Given the description of an element on the screen output the (x, y) to click on. 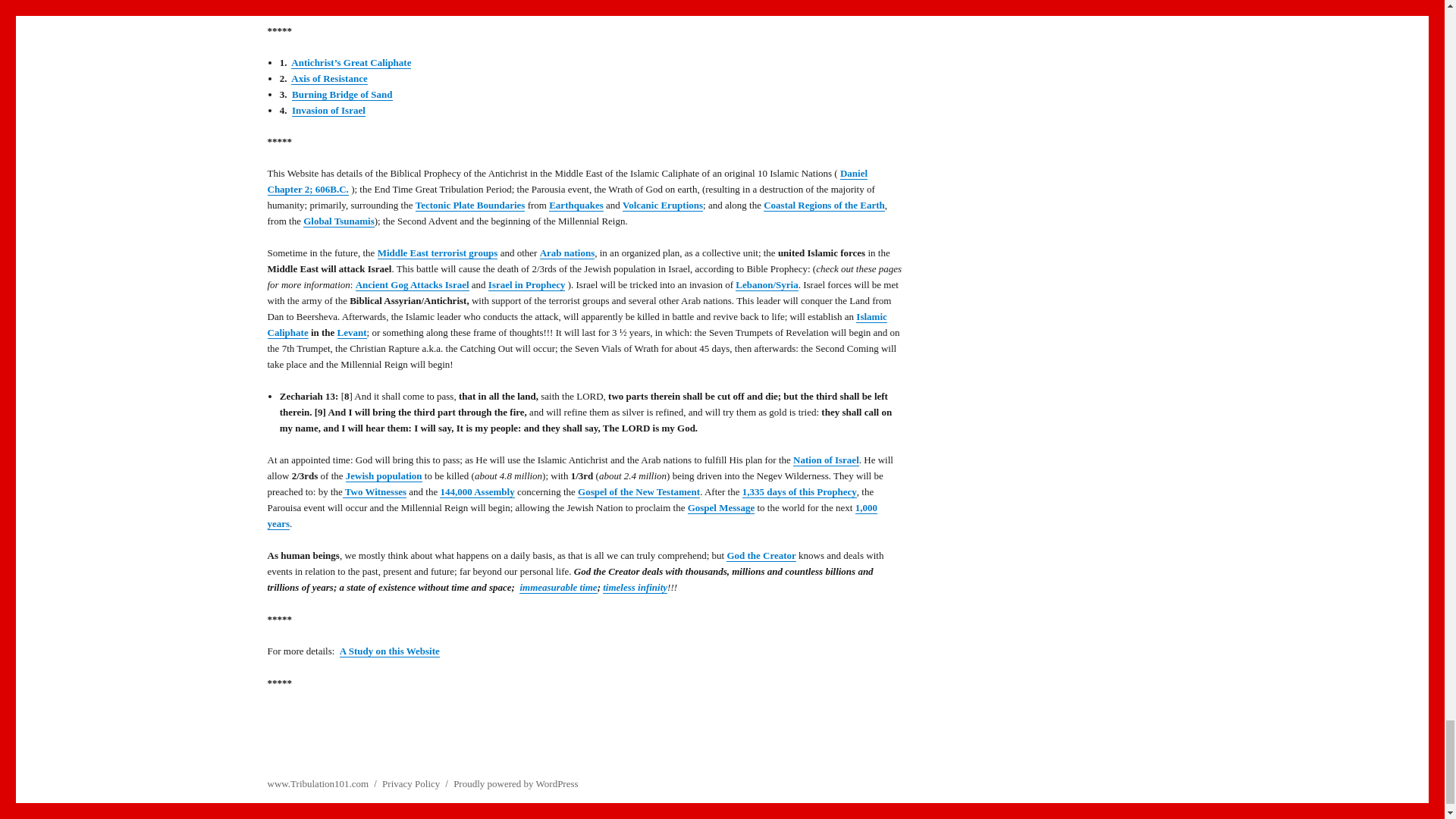
Coastal Regions of the Earth (823, 204)
Volcanic Eruptions (663, 204)
Daniel Chapter 2; 606B.C. (566, 180)
Middle East terrorist groups (437, 252)
Tectonic Plate Boundaries (469, 204)
Arab nations (567, 252)
Invasion of Israel (328, 109)
Global Tsunamis (338, 220)
Earthquakes (576, 204)
Islamic Caliphate (576, 324)
